Given the description of an element on the screen output the (x, y) to click on. 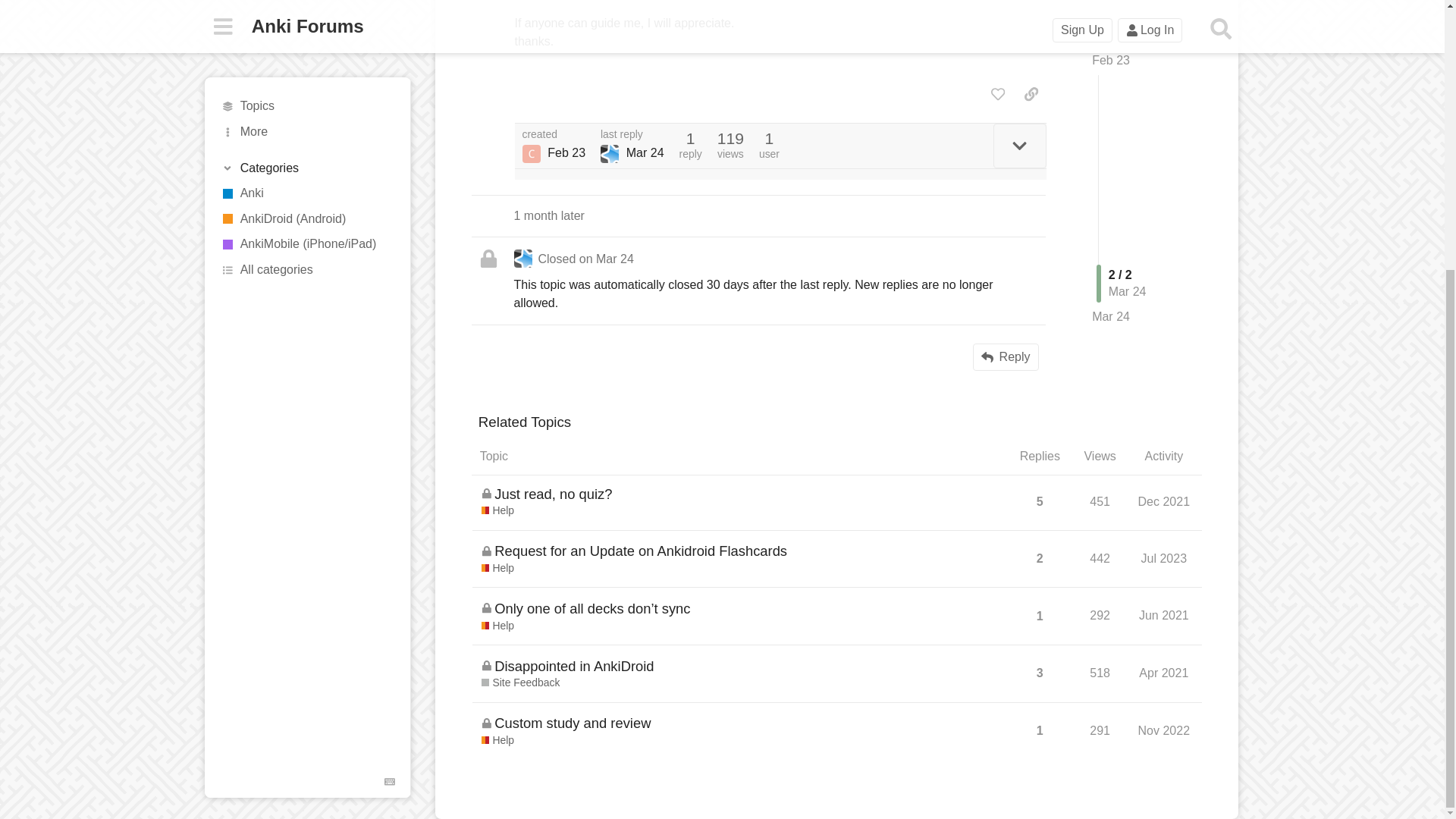
like this post (997, 94)
Mar 24 (1110, 122)
Request for an Update on Ankidroid Flashcards (641, 550)
Reply (1005, 357)
Keyboard Shortcuts (390, 388)
Just read, no quiz? (553, 494)
Jump to the last post (1110, 122)
last reply (631, 134)
Dec 2021 (1163, 501)
Help (497, 510)
